Given the description of an element on the screen output the (x, y) to click on. 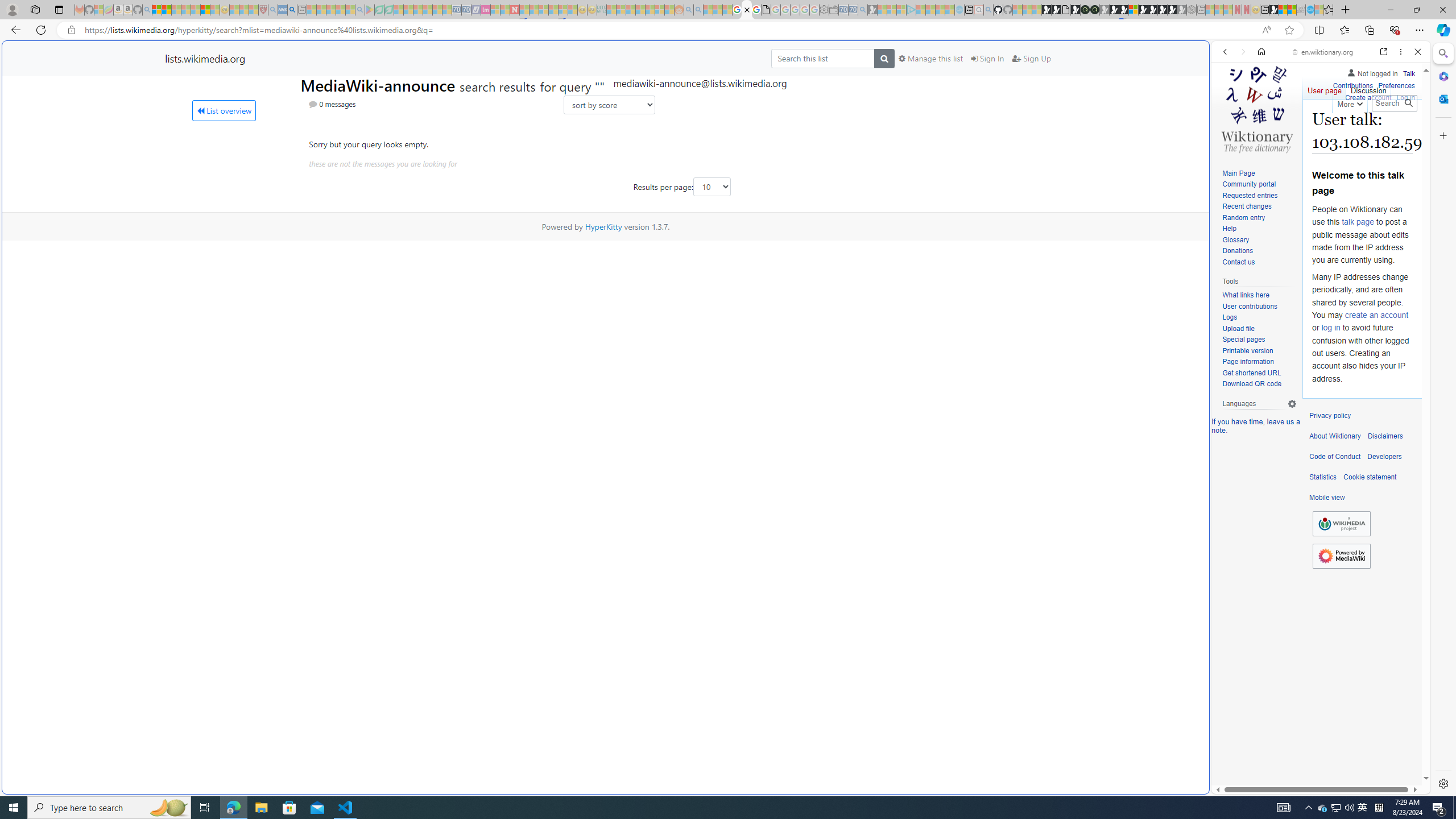
Create account (1367, 96)
Play Cave FRVR in your browser | Games from Microsoft Start (922, 242)
Recent changes (1259, 206)
Community portal (1248, 184)
User page (1324, 87)
lists.wikimedia.org (204, 58)
Privacy policy (1329, 415)
Logs (1229, 317)
World - MSN (1283, 9)
